Given the description of an element on the screen output the (x, y) to click on. 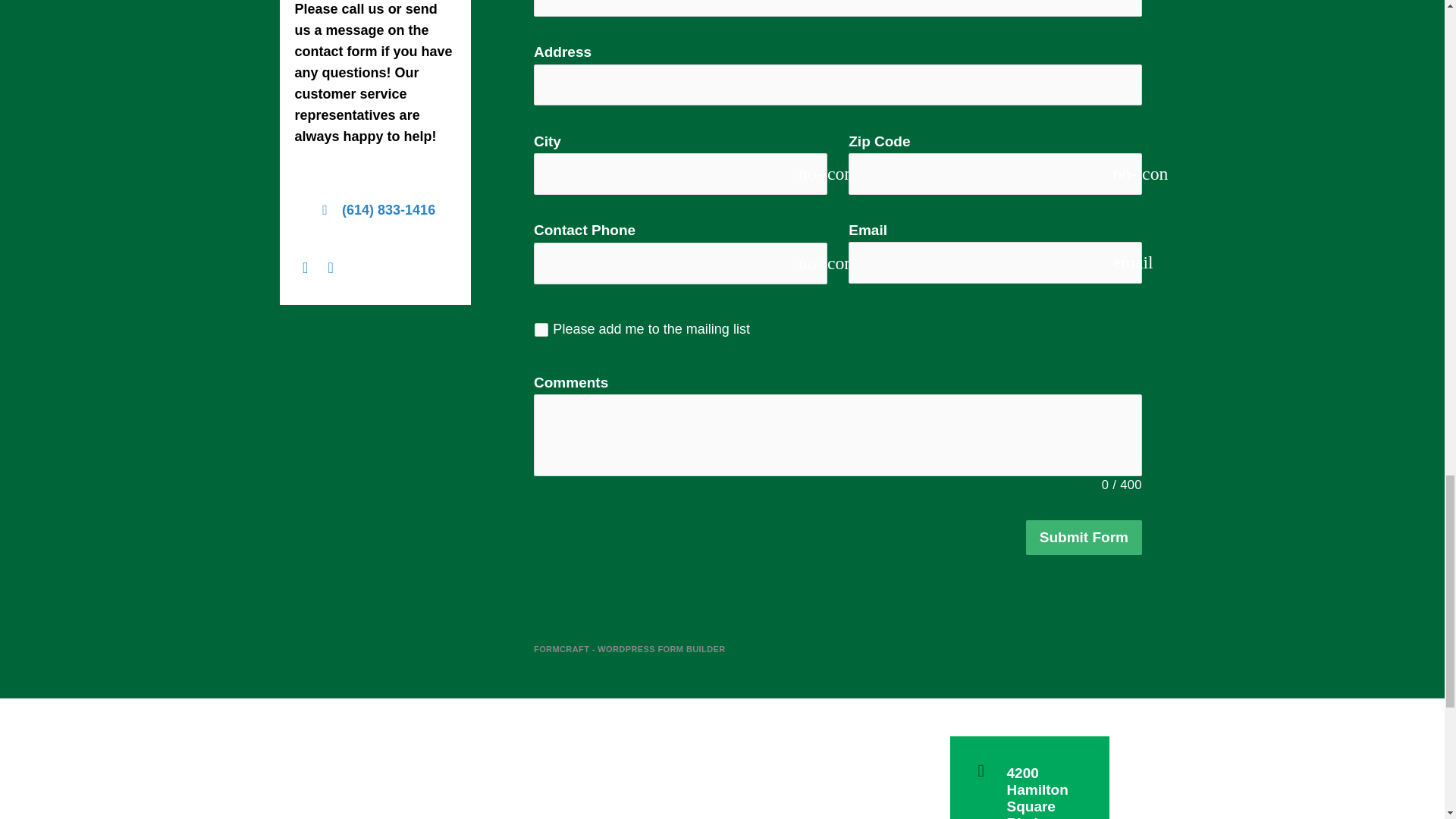
Please add me to the mailing list (541, 329)
Submit Form (1083, 538)
FORMCRAFT - WORDPRESS FORM BUILDER (629, 649)
